Given the description of an element on the screen output the (x, y) to click on. 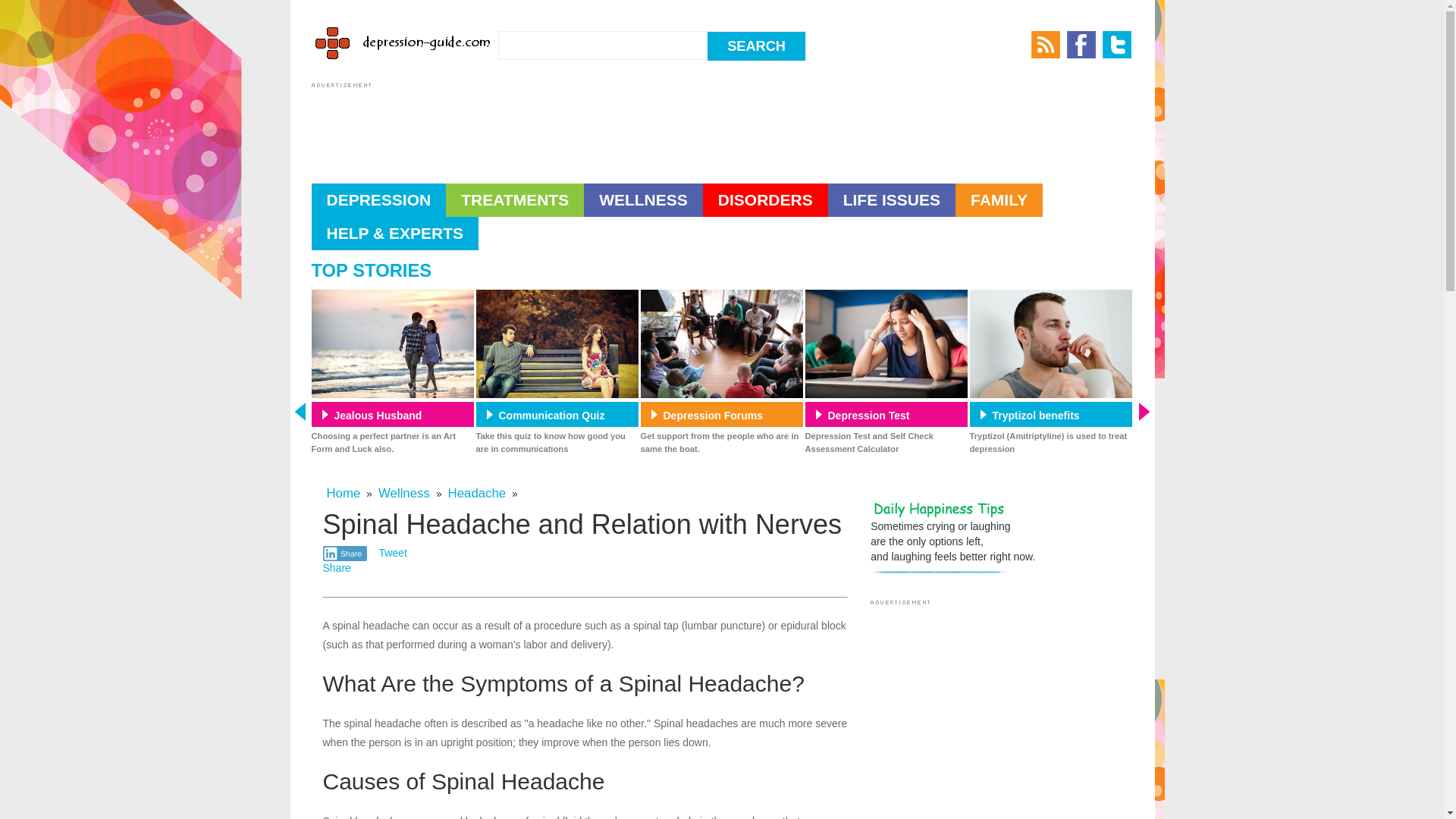
Advertisement (997, 714)
SEARCH (756, 45)
DEPRESSION (378, 200)
SEARCH (756, 45)
LIFE ISSUES (891, 200)
DISORDERS (765, 200)
Advertisement (587, 126)
TREATMENTS (514, 200)
WELLNESS (643, 200)
